Given the description of an element on the screen output the (x, y) to click on. 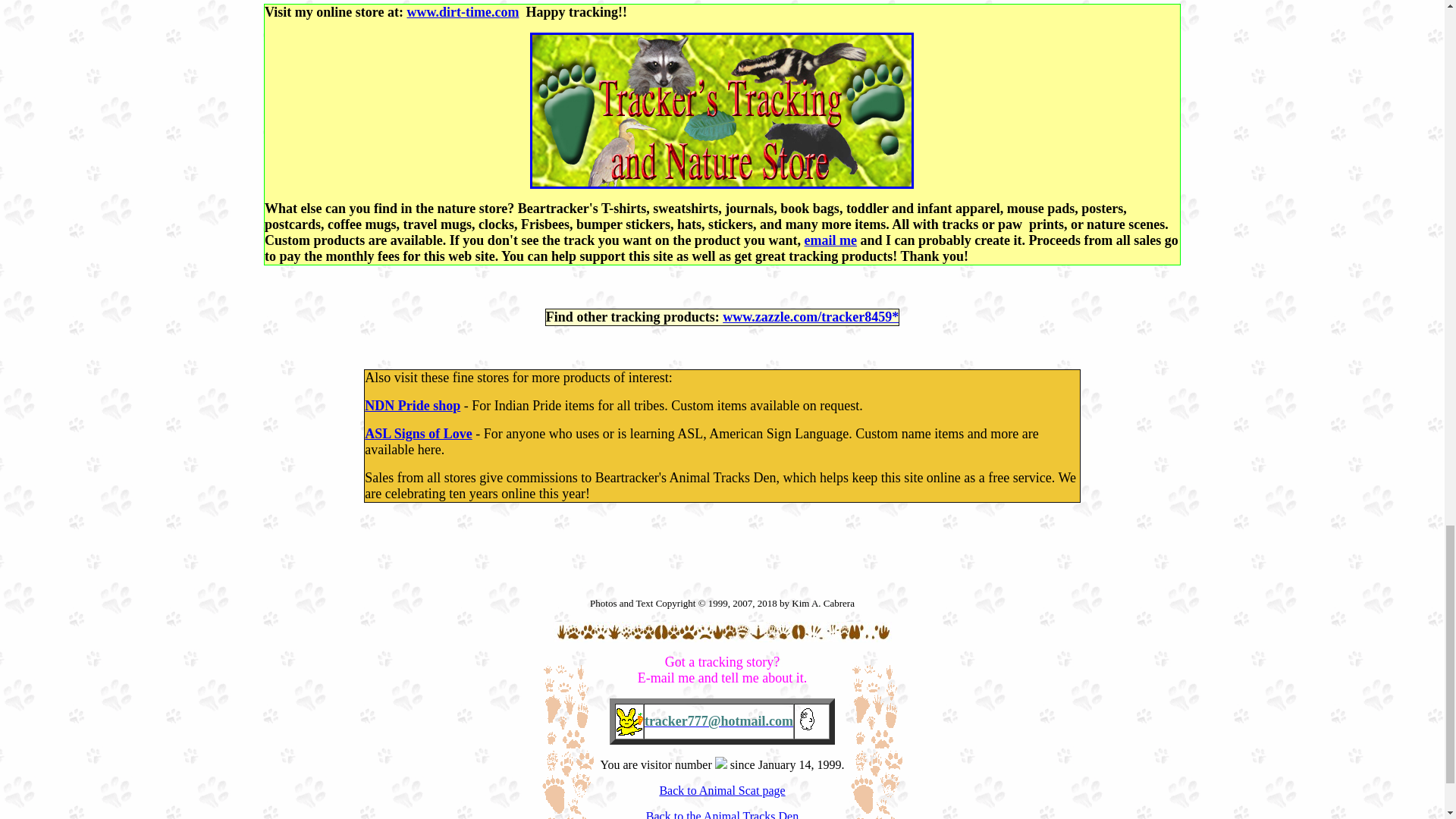
www.dirt-time.com (462, 11)
Back to the Animal Tracks Den (721, 814)
email me (831, 240)
NDN Pride shop (412, 405)
ASL Signs of Love (418, 433)
Back to Animal Scat page (721, 789)
